Given the description of an element on the screen output the (x, y) to click on. 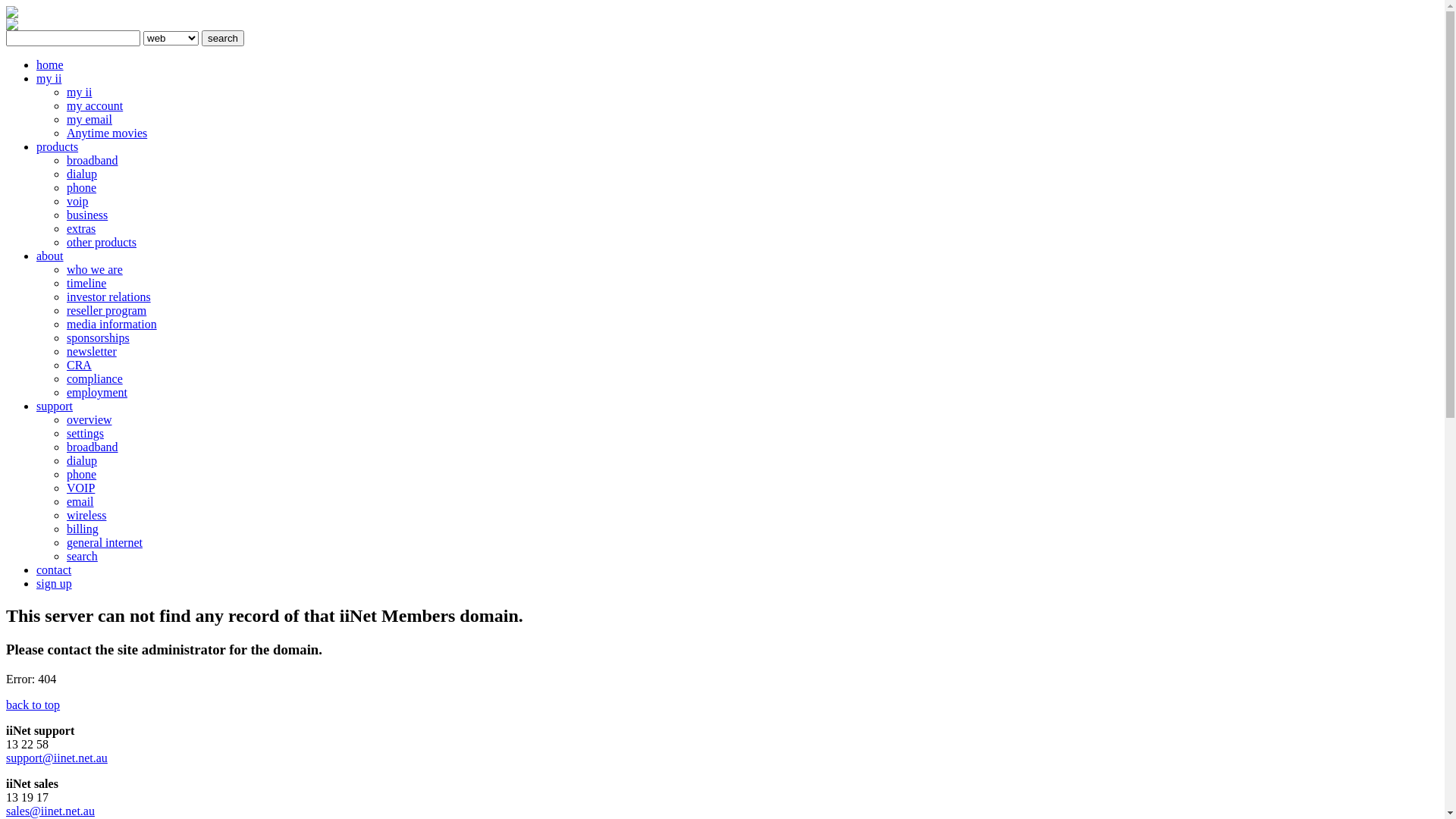
back to top Element type: text (32, 704)
voip Element type: text (76, 200)
other products Element type: text (101, 241)
support@iinet.net.au Element type: text (56, 757)
sign up Element type: text (54, 583)
my account Element type: text (94, 105)
search Element type: text (81, 555)
investor relations Element type: text (108, 296)
broadband Element type: text (92, 446)
Anytime movies Element type: text (106, 132)
wireless Element type: text (86, 514)
general internet Element type: text (104, 542)
billing Element type: text (82, 528)
timeline Element type: text (86, 282)
products Element type: text (57, 146)
search Element type: text (222, 38)
settings Element type: text (84, 432)
VOIP Element type: text (80, 487)
about Element type: text (49, 255)
email Element type: text (80, 501)
newsletter Element type: text (91, 351)
media information Element type: text (111, 323)
dialup Element type: text (81, 173)
phone Element type: text (81, 473)
extras Element type: text (80, 228)
contact Element type: text (53, 569)
home Element type: text (49, 64)
broadband Element type: text (92, 159)
sales@iinet.net.au Element type: text (50, 810)
overview Element type: text (89, 419)
who we are Element type: text (94, 269)
compliance Element type: text (94, 378)
support Element type: text (54, 405)
phone Element type: text (81, 187)
sponsorships Element type: text (97, 337)
employment Element type: text (96, 391)
reseller program Element type: text (106, 310)
business Element type: text (86, 214)
CRA Element type: text (78, 364)
my ii Element type: text (78, 91)
my email Element type: text (89, 118)
dialup Element type: text (81, 460)
my ii Element type: text (48, 78)
